Given the description of an element on the screen output the (x, y) to click on. 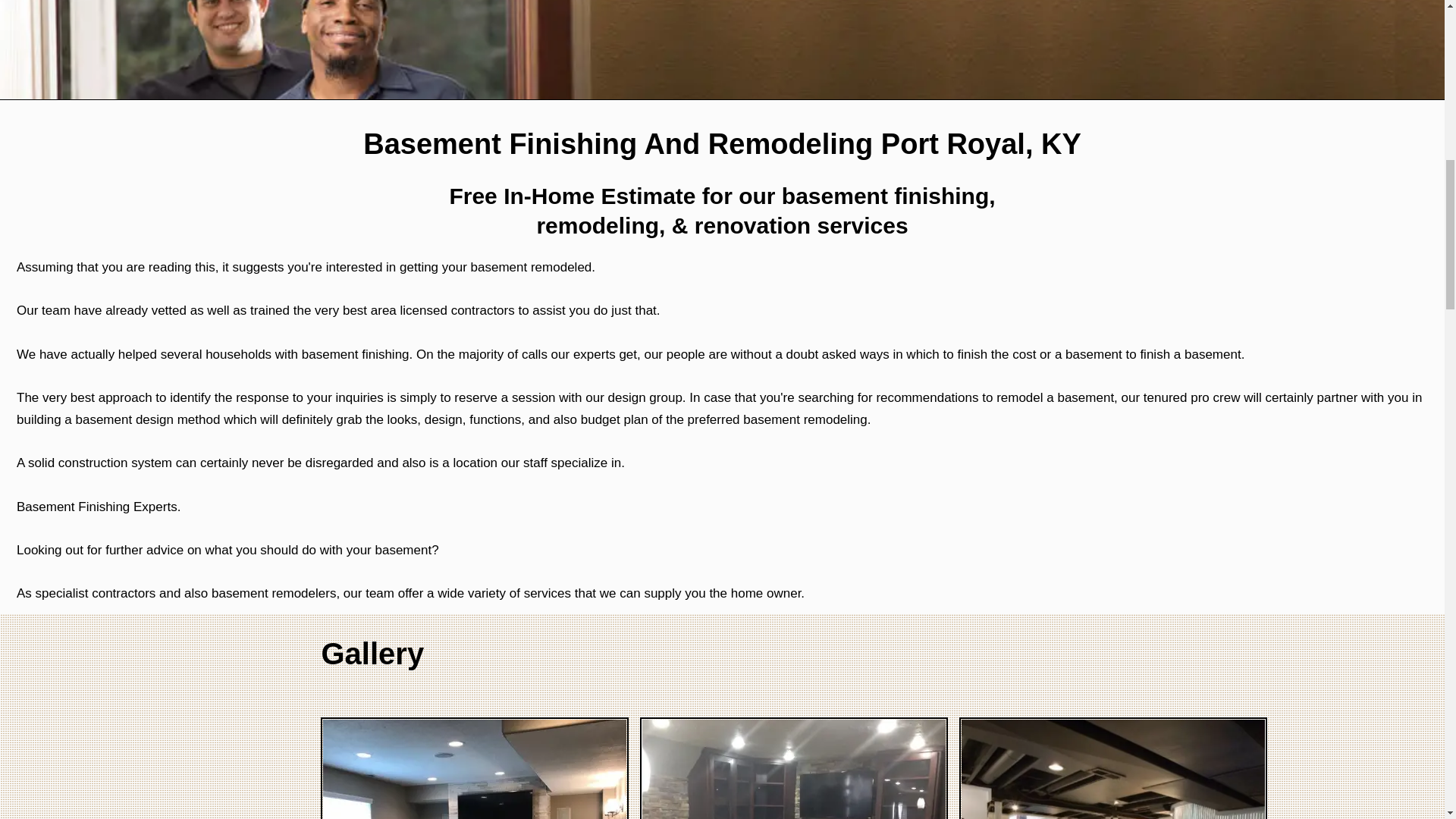
carpet-basement-finishing (474, 769)
kitchenette-basement-design (793, 769)
